Given the description of an element on the screen output the (x, y) to click on. 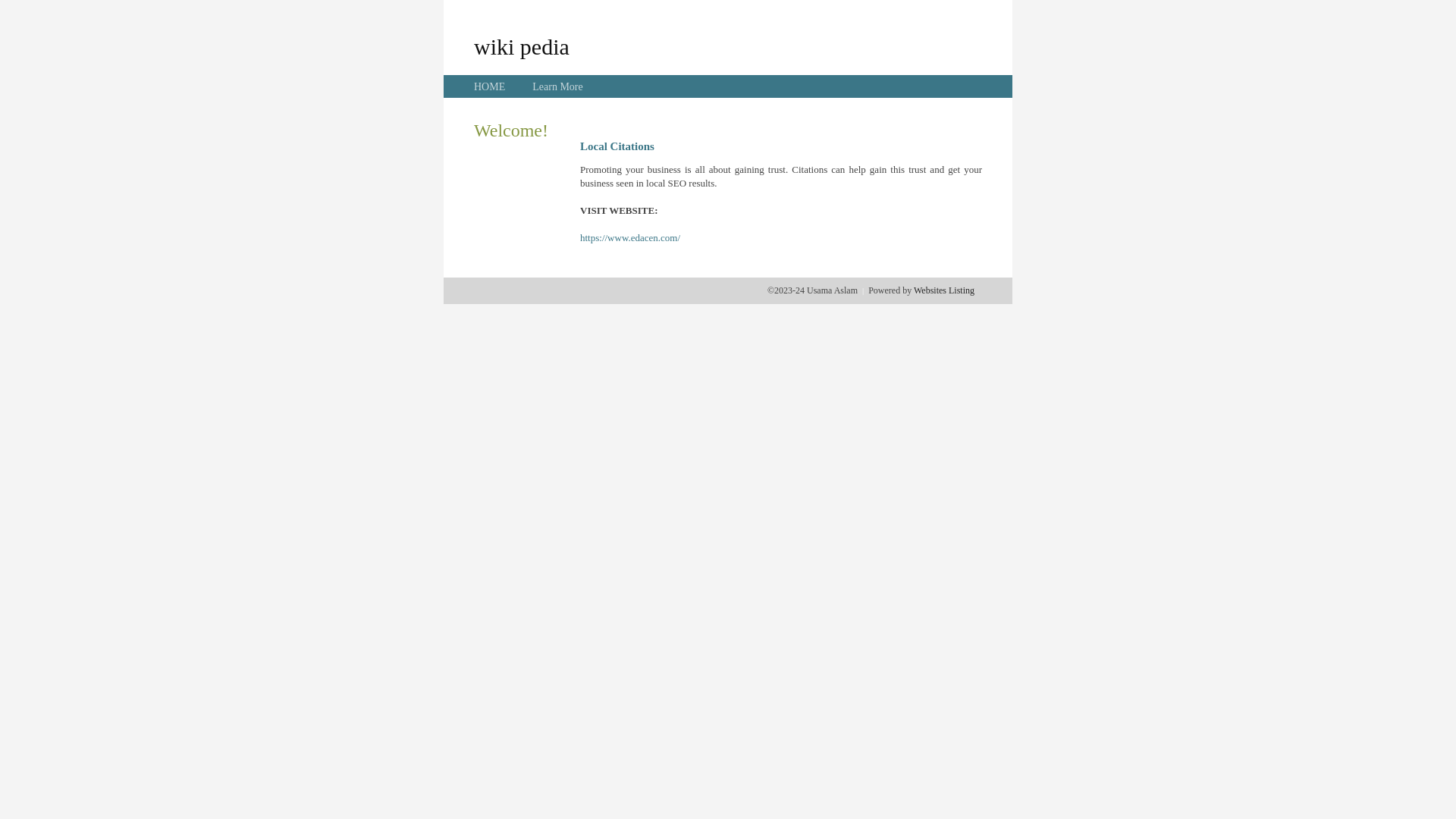
HOME Element type: text (489, 86)
Websites Listing Element type: text (943, 290)
Learn More Element type: text (557, 86)
https://www.edacen.com/ Element type: text (630, 237)
wiki pedia Element type: text (521, 46)
